Given the description of an element on the screen output the (x, y) to click on. 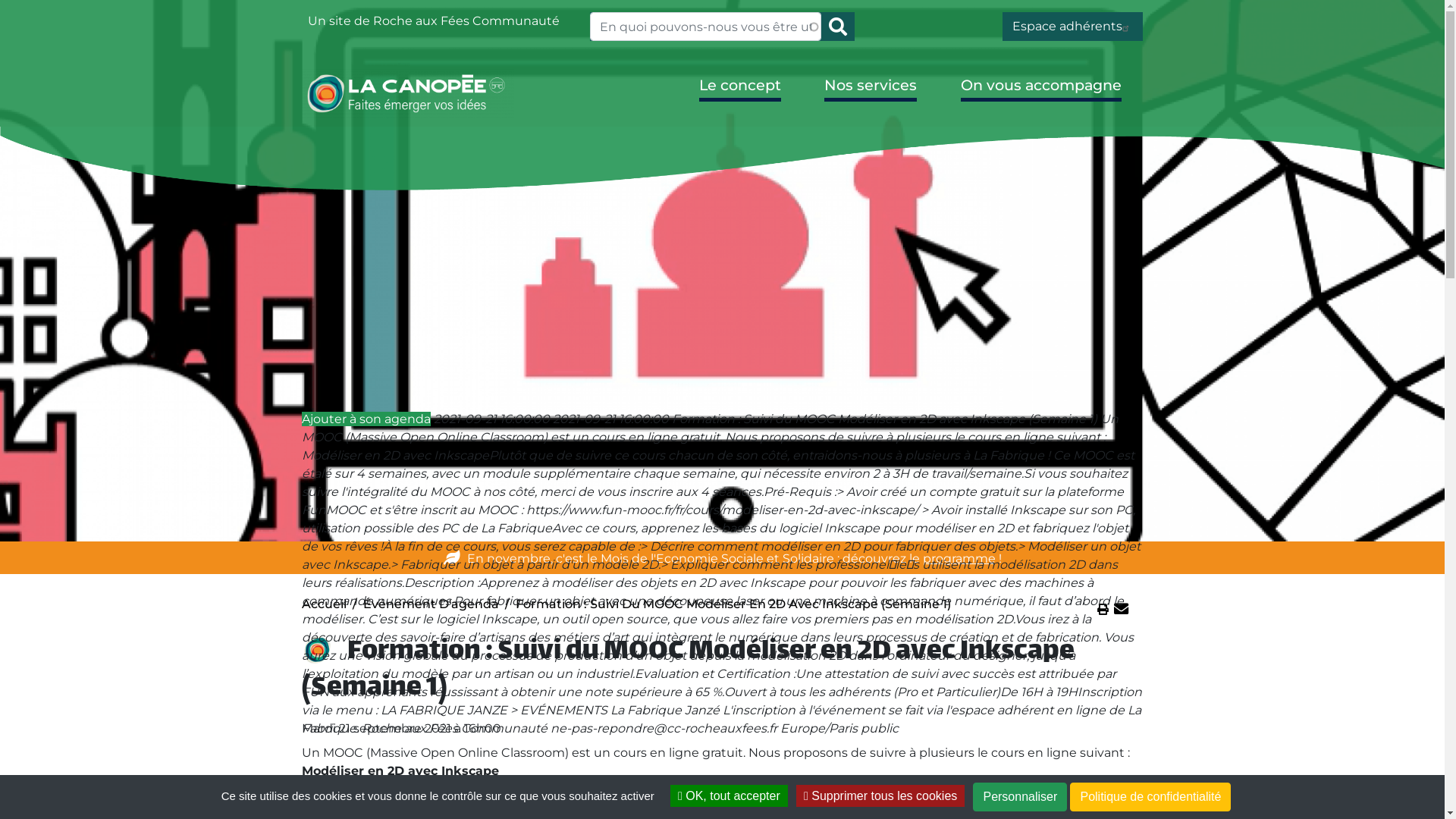
Supprimer tous les cookies Element type: text (880, 795)
Personnaliser Element type: text (1019, 796)
Rechercher Element type: text (837, 26)
OK, tout accepter Element type: text (728, 795)
programme Element type: text (958, 558)
Accueil Element type: text (323, 604)
Aller au contenu principal Element type: text (721, 1)
